Given the description of an element on the screen output the (x, y) to click on. 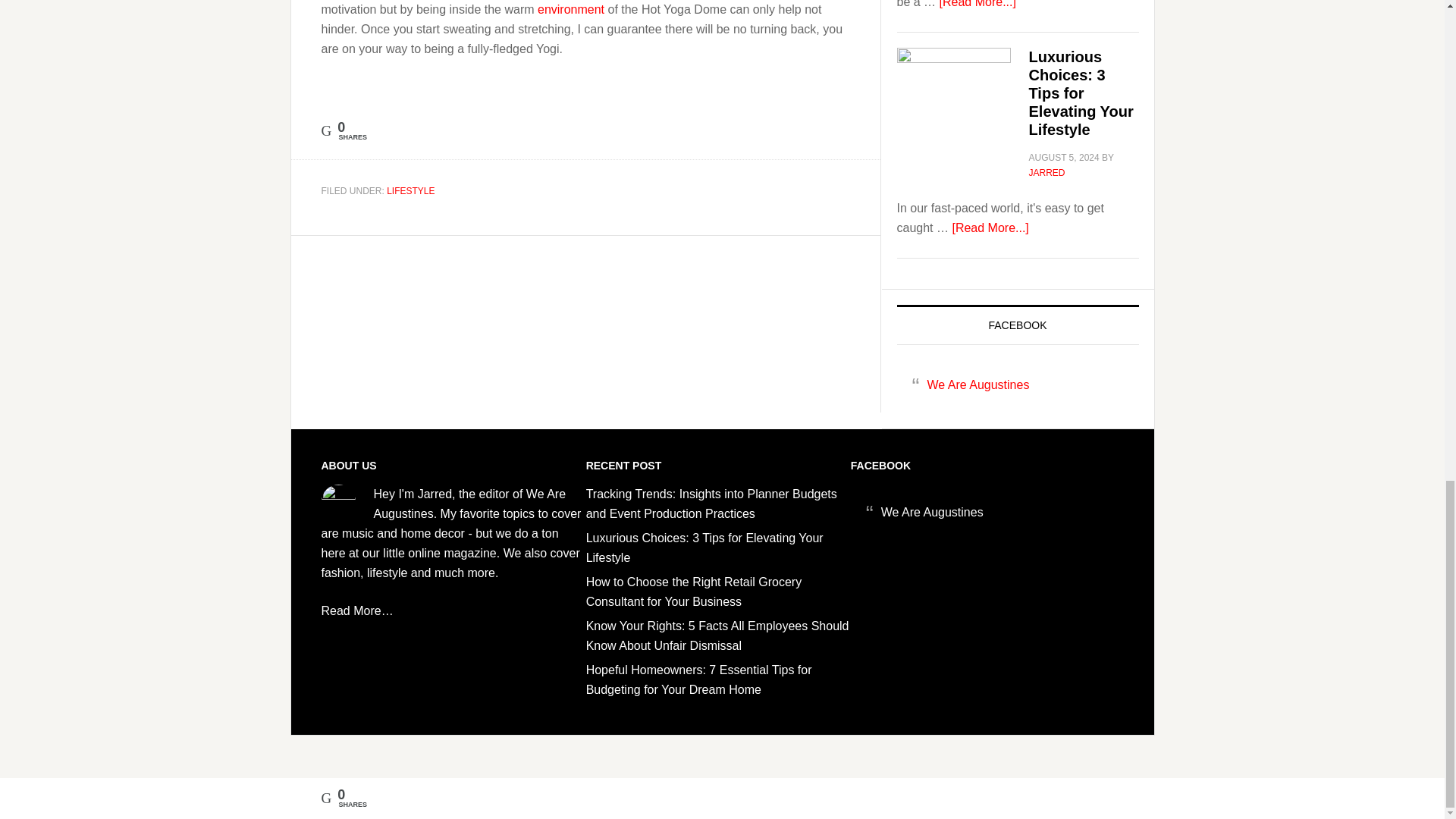
JARRED (1045, 172)
Luxurious Choices: 3 Tips for Elevating Your Lifestyle (705, 547)
environment (570, 8)
We Are Augustines (977, 384)
LIFESTYLE (410, 190)
Luxurious Choices: 3 Tips for Elevating Your Lifestyle (1079, 93)
